Given the description of an element on the screen output the (x, y) to click on. 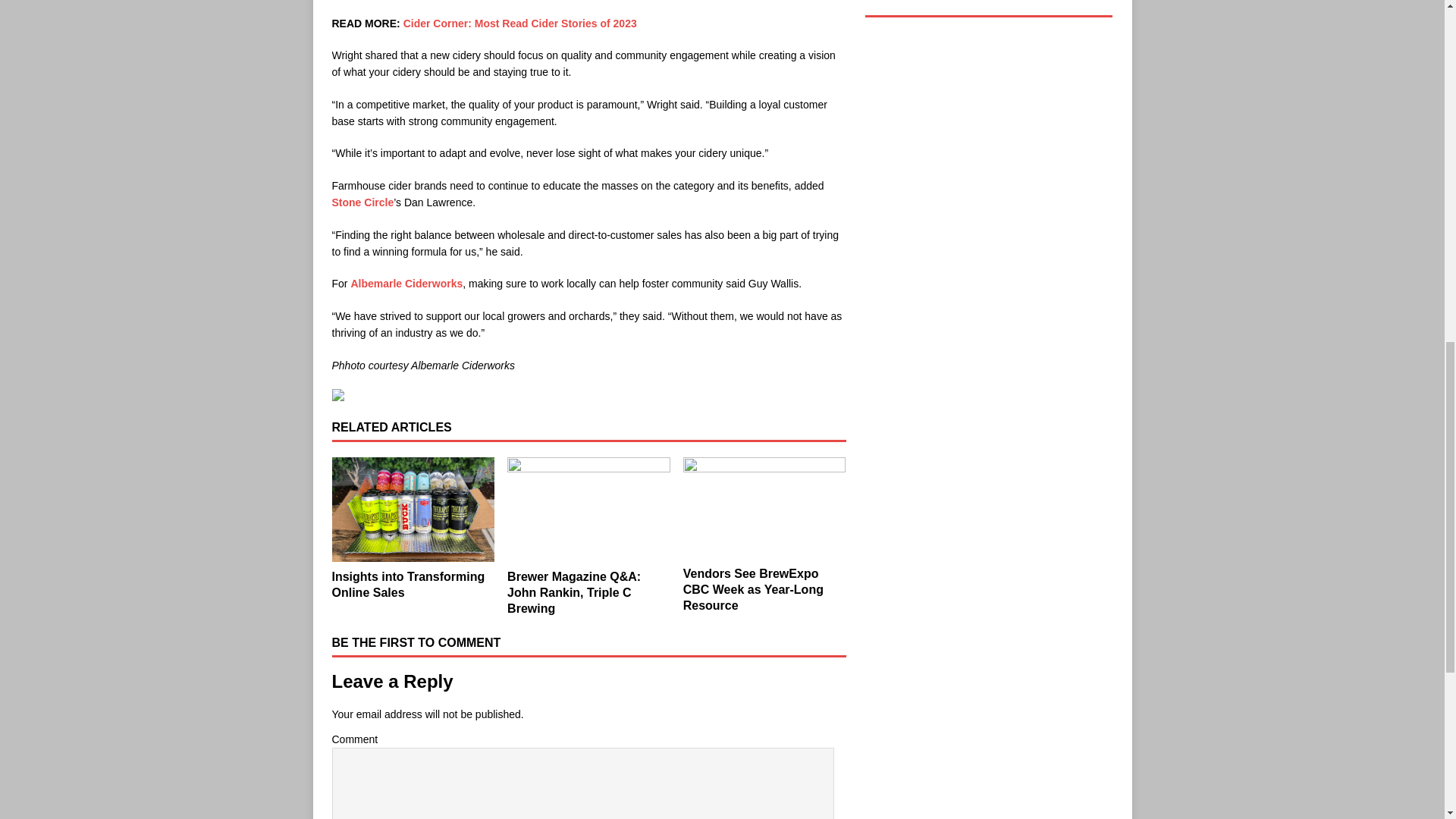
Cider Corner: Most Read Cider Stories of 2023 (520, 23)
Insights into Transforming Online Sales (413, 509)
Stone Circle (362, 202)
Insights into Transforming Online Sales (407, 584)
Vendors See BrewExpo CBC Week as Year-Long Resource (753, 589)
Albemarle Ciderworks (406, 283)
Insights into Transforming Online Sales (407, 584)
Vendors See BrewExpo CBC Week as Year-Long Resource (753, 589)
Vendors See BrewExpo CBC Week as Year-Long Resource (763, 507)
